Given the description of an element on the screen output the (x, y) to click on. 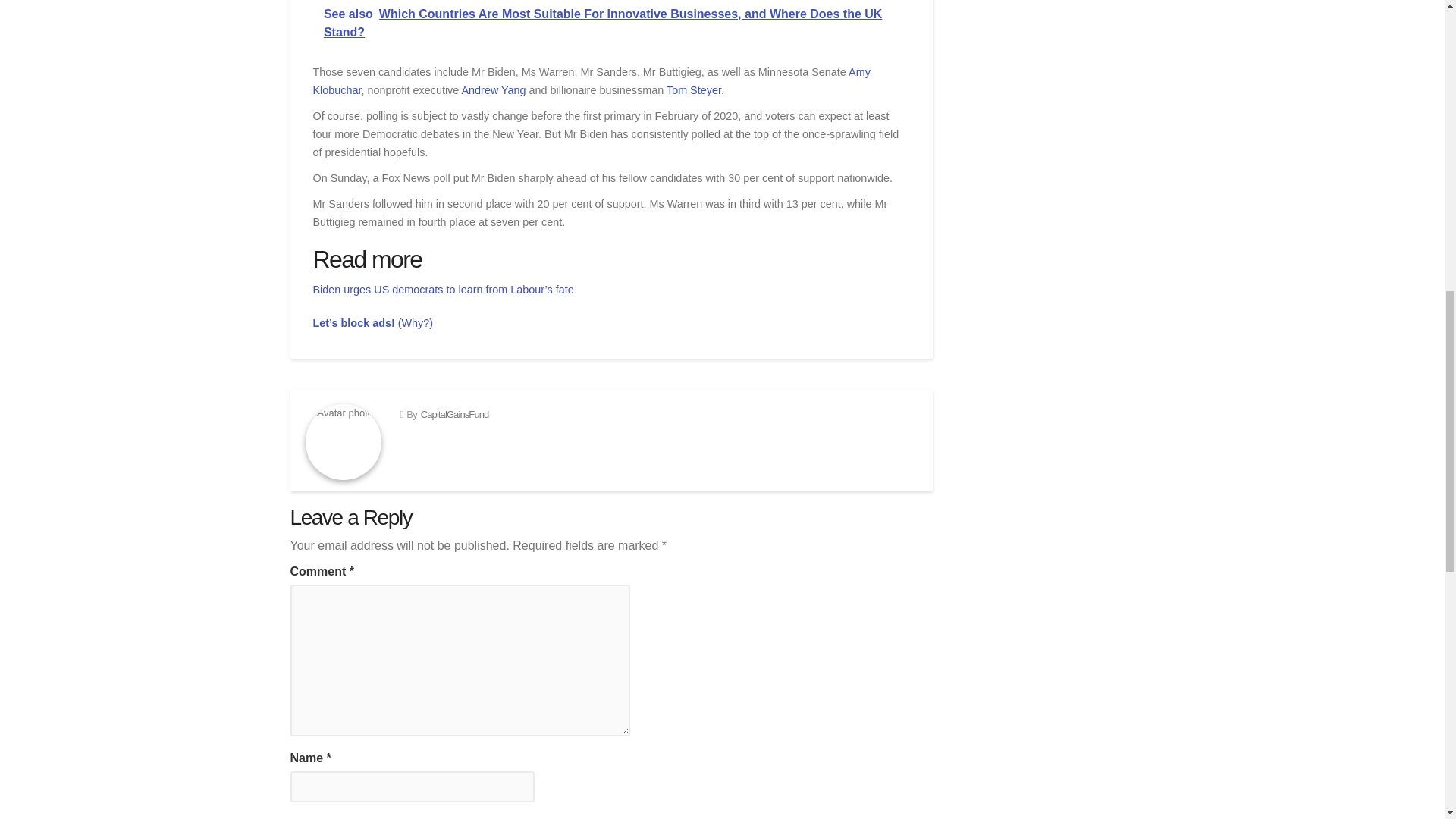
Andrew Yang (493, 90)
CapitalGainsFund (454, 414)
Tom Steyer (693, 90)
Amy Klobuchar (591, 81)
